Given the description of an element on the screen output the (x, y) to click on. 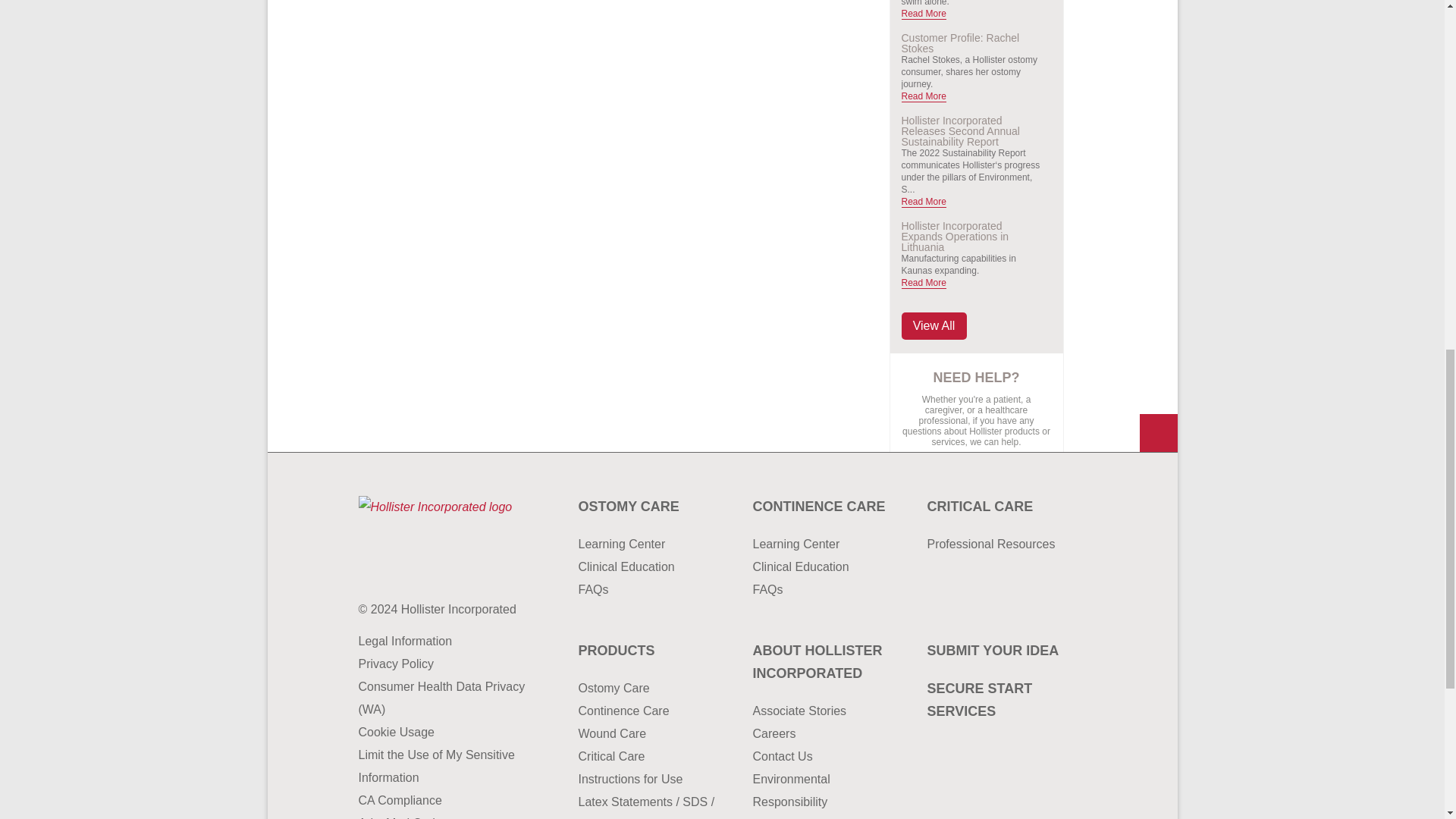
Cookie Usage (441, 732)
Hollister Locations (824, 816)
Ostomy Care (650, 506)
Privacy Notice (441, 663)
Ostomy Learning Center (650, 544)
Critical Care (998, 506)
Hollister Careers (824, 733)
Professional Resources (998, 544)
Continence Care (824, 506)
Continence Care Learning Center (824, 544)
AdvaMed Code (441, 815)
